Given the description of an element on the screen output the (x, y) to click on. 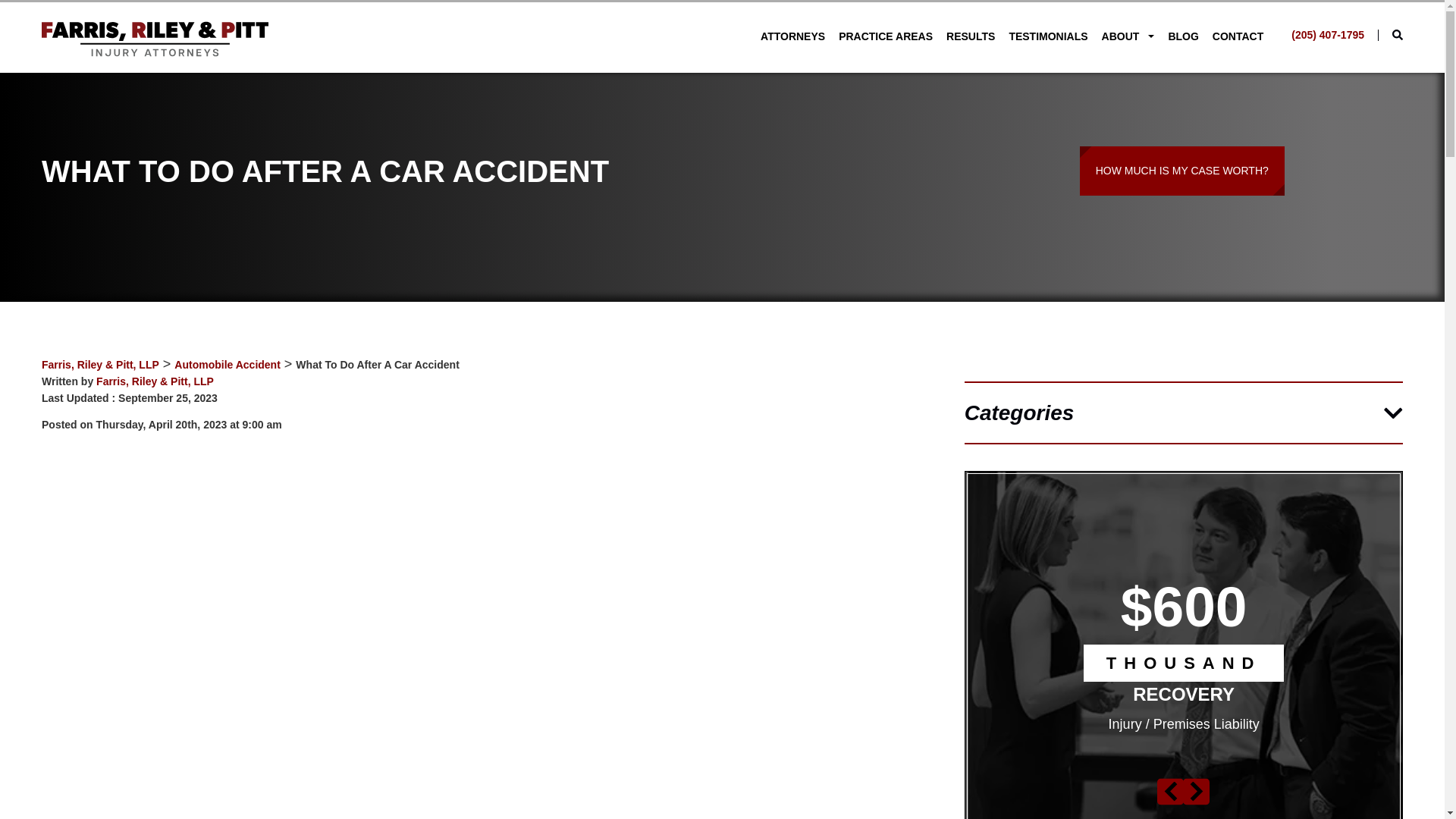
CONTACT (1237, 35)
Automobile Accident (227, 364)
ATTORNEYS (792, 35)
Go to the Automobile Accident category archives. (227, 364)
HOW MUCH IS MY CASE WORTH? (1182, 170)
BLOG (1182, 35)
TESTIMONIALS (1047, 35)
ABOUT (1127, 35)
PRACTICE AREAS (885, 35)
RESULTS (970, 35)
